Given the description of an element on the screen output the (x, y) to click on. 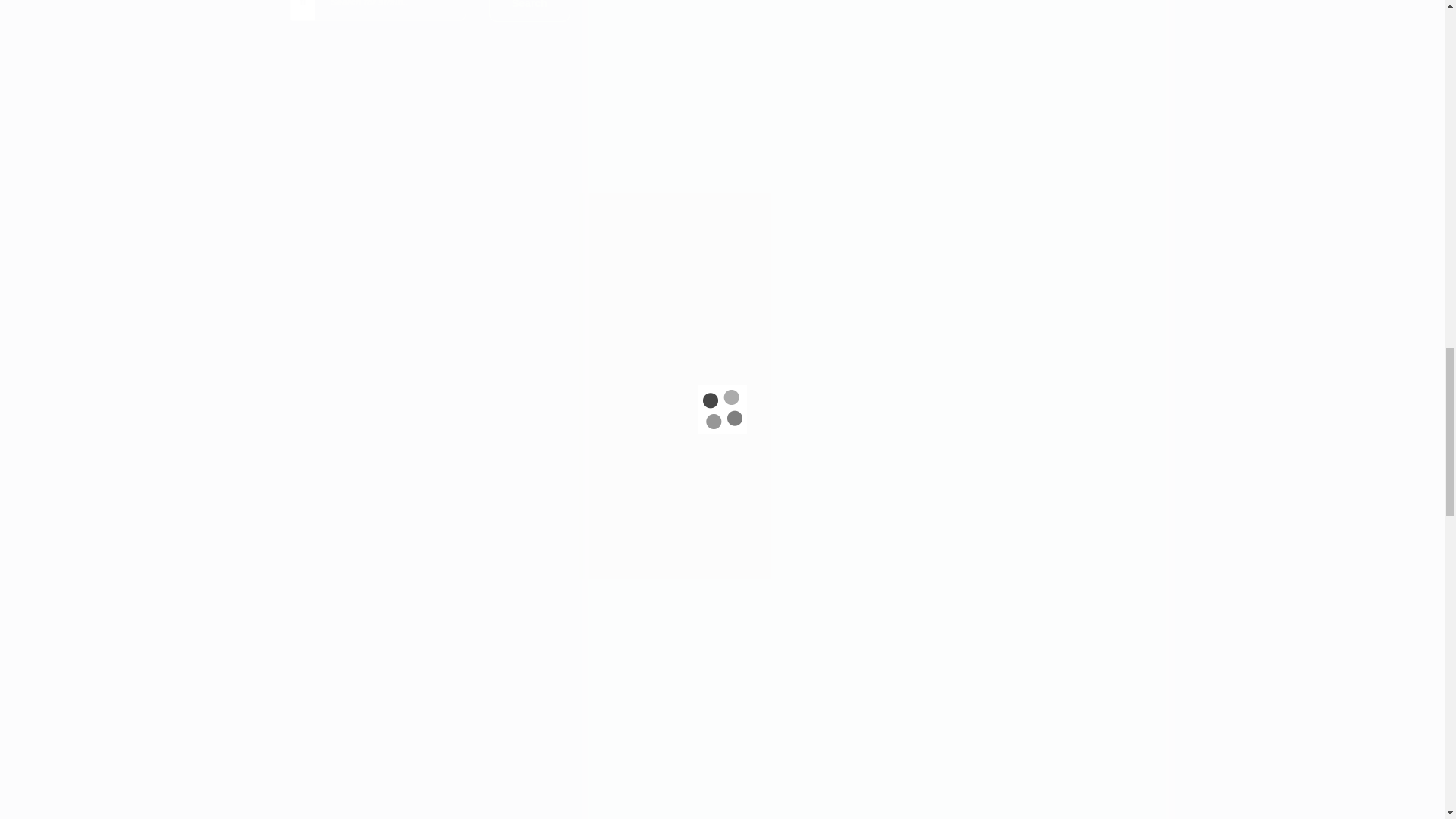
Search (529, 11)
